Given the description of an element on the screen output the (x, y) to click on. 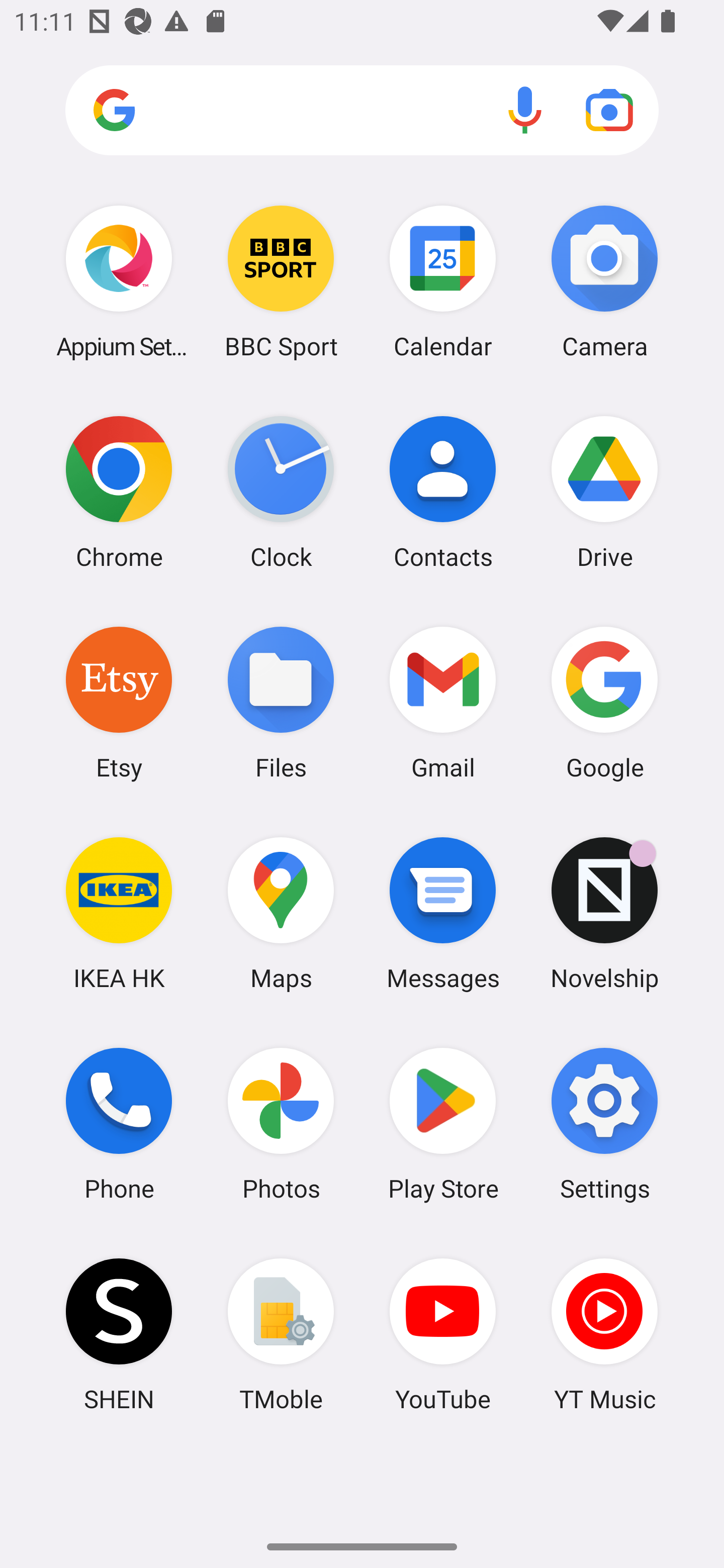
Search apps, web and more (361, 110)
Voice search (524, 109)
Google Lens (608, 109)
Appium Settings (118, 281)
BBC Sport (280, 281)
Calendar (443, 281)
Camera (604, 281)
Chrome (118, 492)
Clock (280, 492)
Contacts (443, 492)
Drive (604, 492)
Etsy (118, 702)
Files (280, 702)
Gmail (443, 702)
Google (604, 702)
IKEA HK (118, 913)
Maps (280, 913)
Messages (443, 913)
Novelship Novelship has 3 notifications (604, 913)
Phone (118, 1124)
Photos (280, 1124)
Play Store (443, 1124)
Settings (604, 1124)
SHEIN (118, 1334)
TMoble (280, 1334)
YouTube (443, 1334)
YT Music (604, 1334)
